Given the description of an element on the screen output the (x, y) to click on. 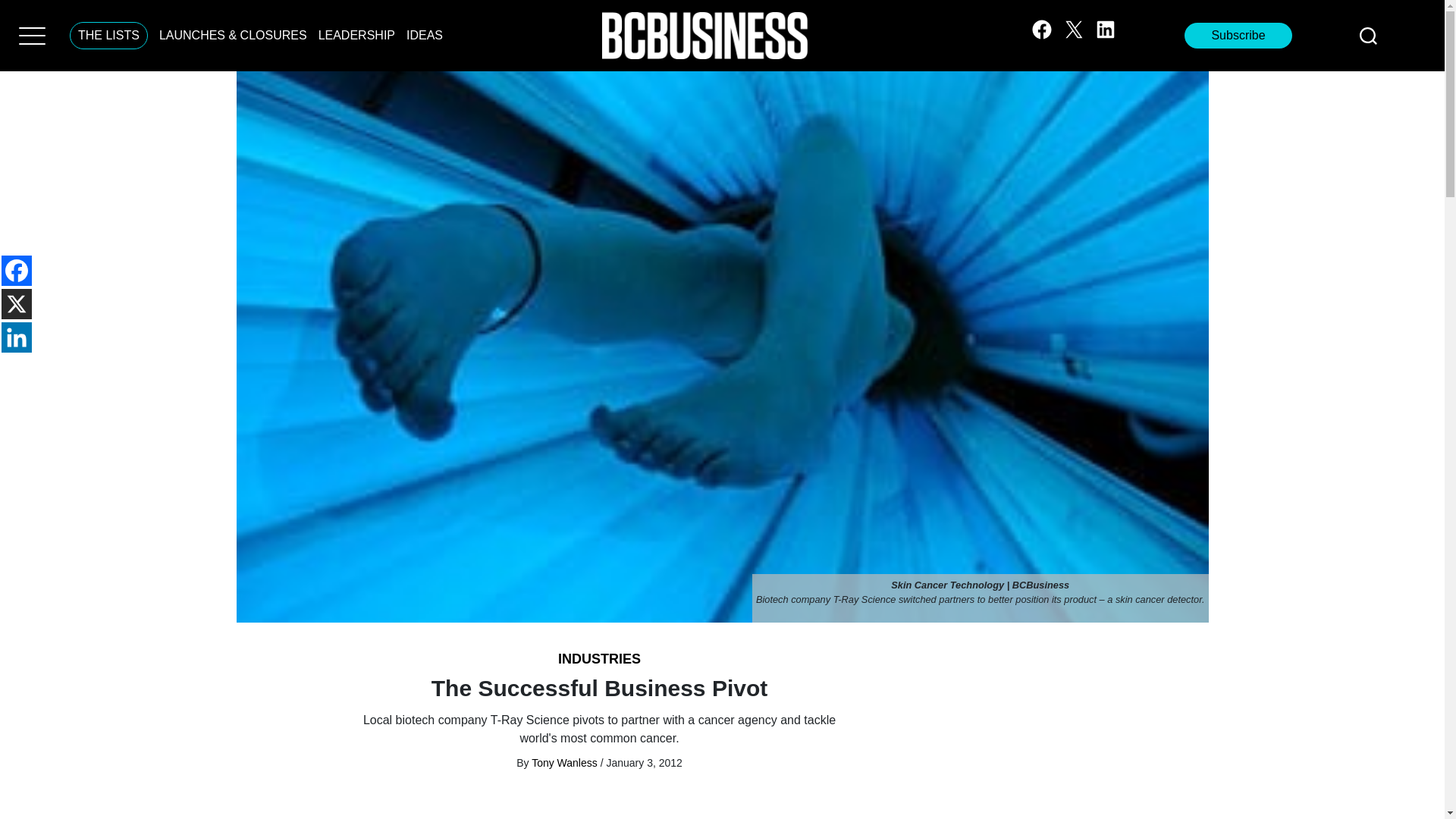
3rd party ad content (1084, 733)
Linkedin (16, 337)
X (16, 304)
3rd party ad content (599, 807)
Facebook (16, 270)
